Given the description of an element on the screen output the (x, y) to click on. 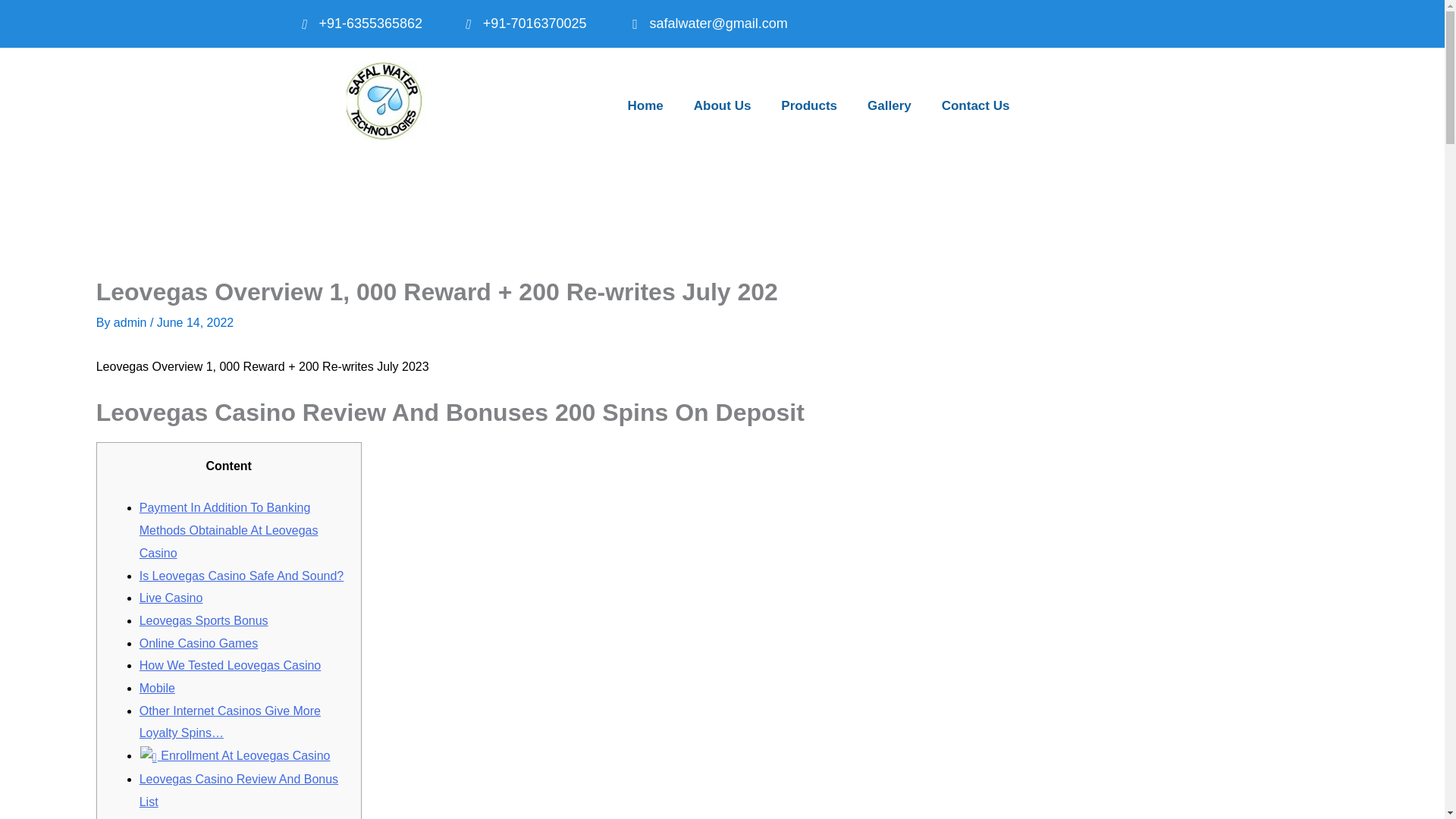
Online Casino Games (199, 643)
Live Casino (171, 597)
Leovegas Sports Bonus (203, 620)
Gallery (889, 105)
Products (809, 105)
Leovegas Casino Review And Bonus List (238, 790)
admin (131, 322)
About Us (722, 105)
Mobile (156, 687)
Is Leovegas Casino Safe And Sound? (241, 575)
View all posts by admin (131, 322)
Roulette (161, 818)
How We Tested Leovegas Casino (230, 665)
Enrollment At Leovegas Casino (234, 755)
